Given the description of an element on the screen output the (x, y) to click on. 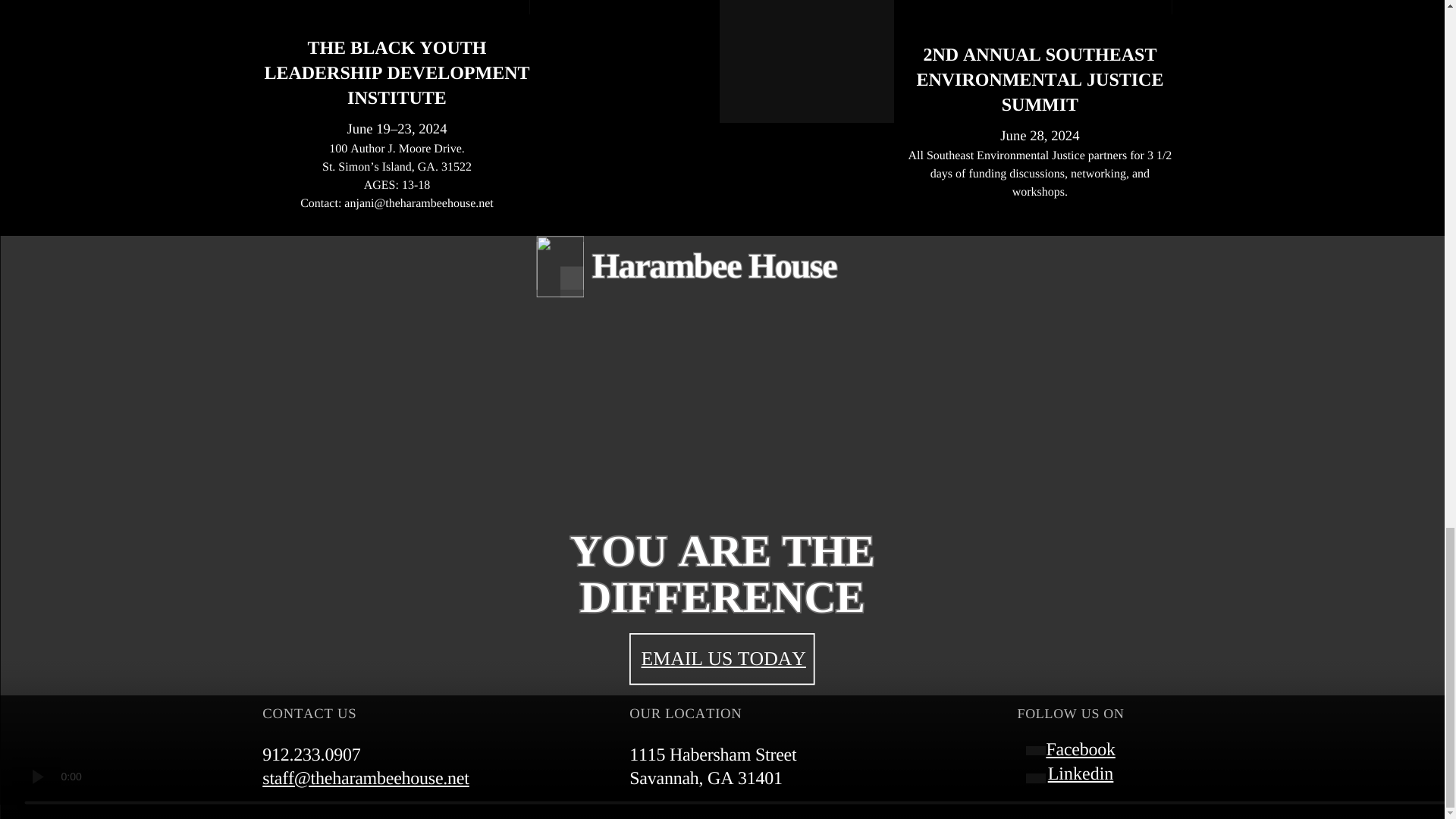
Facebook (1080, 750)
EMAIL US TODAY (724, 658)
Linkedin (1080, 773)
